Given the description of an element on the screen output the (x, y) to click on. 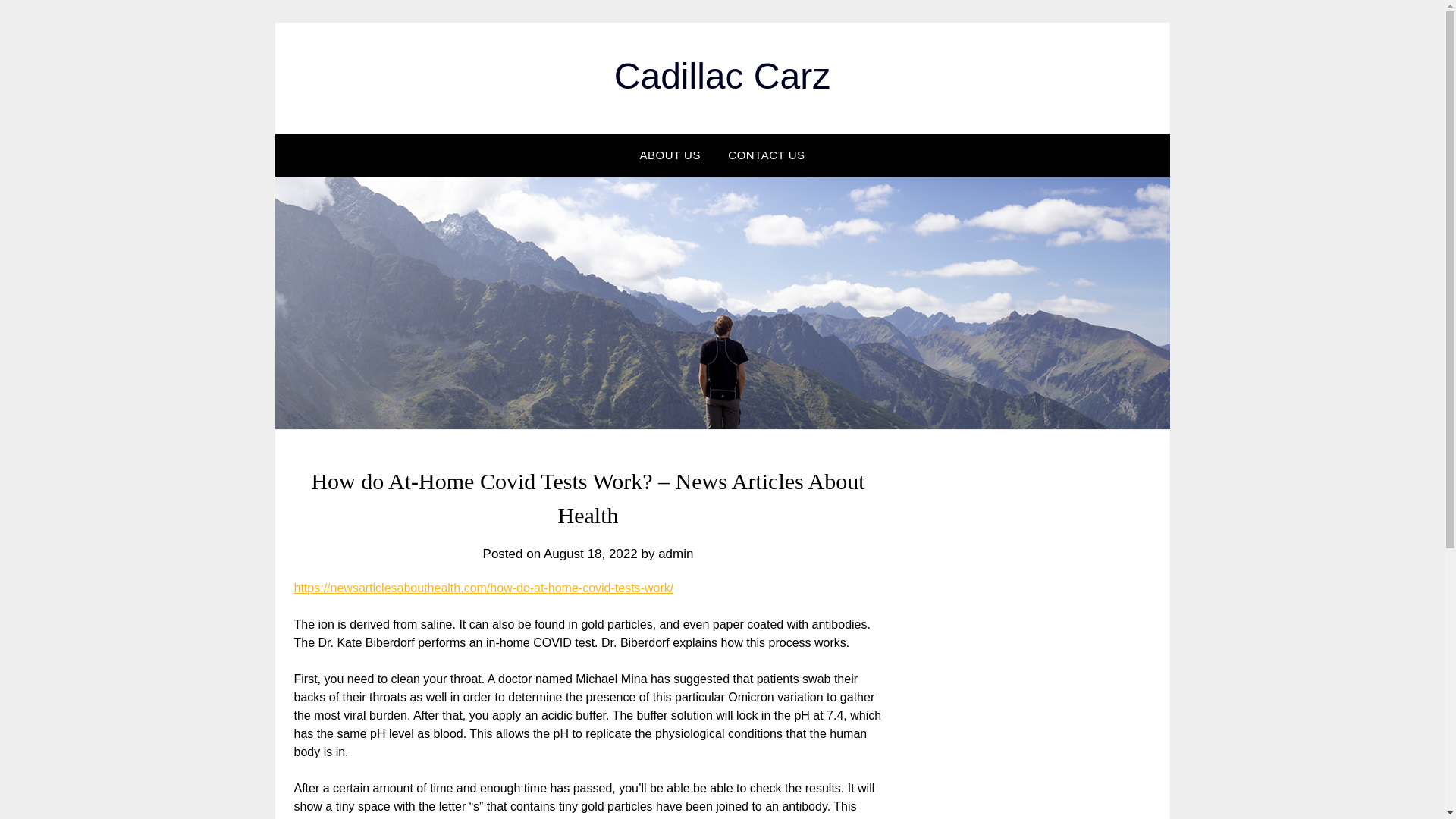
admin (675, 554)
August 18, 2022 (590, 554)
CONTACT US (766, 155)
ABOUT US (670, 155)
Cadillac Carz (721, 76)
